Given the description of an element on the screen output the (x, y) to click on. 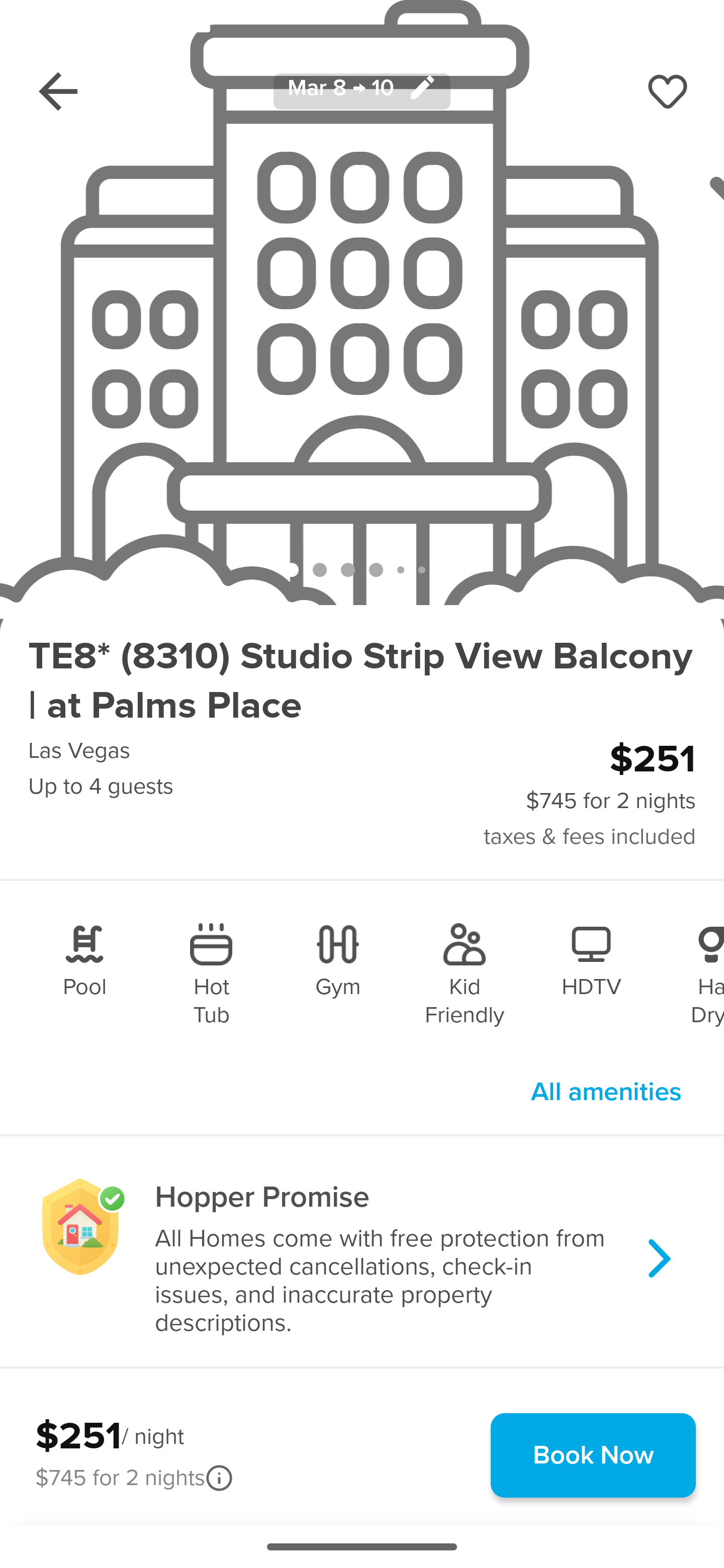
Mar 8 → 10 (361, 90)
All amenities (606, 1091)
Book Now (592, 1454)
